Given the description of an element on the screen output the (x, y) to click on. 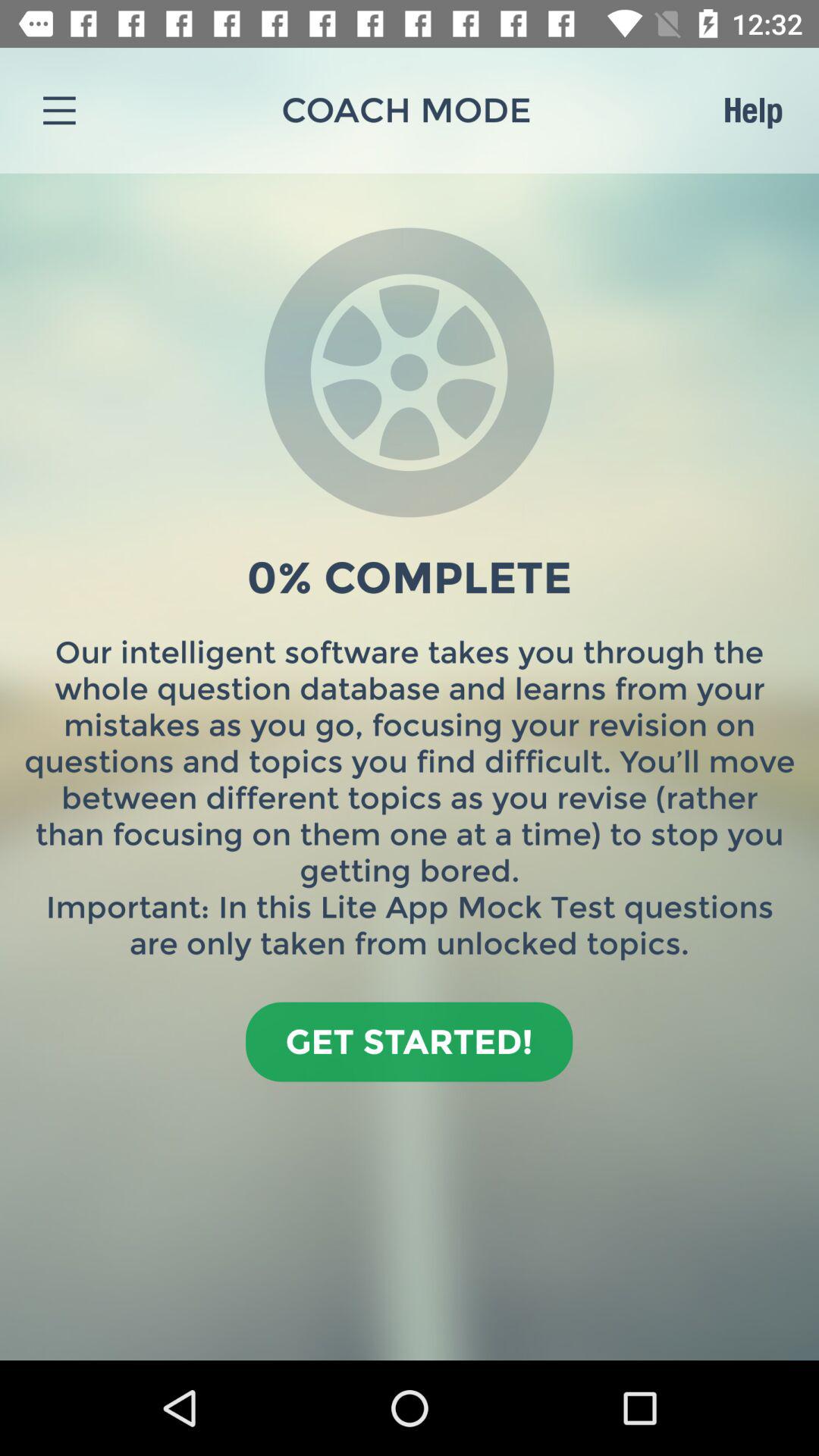
click help at the top right corner (752, 110)
